Given the description of an element on the screen output the (x, y) to click on. 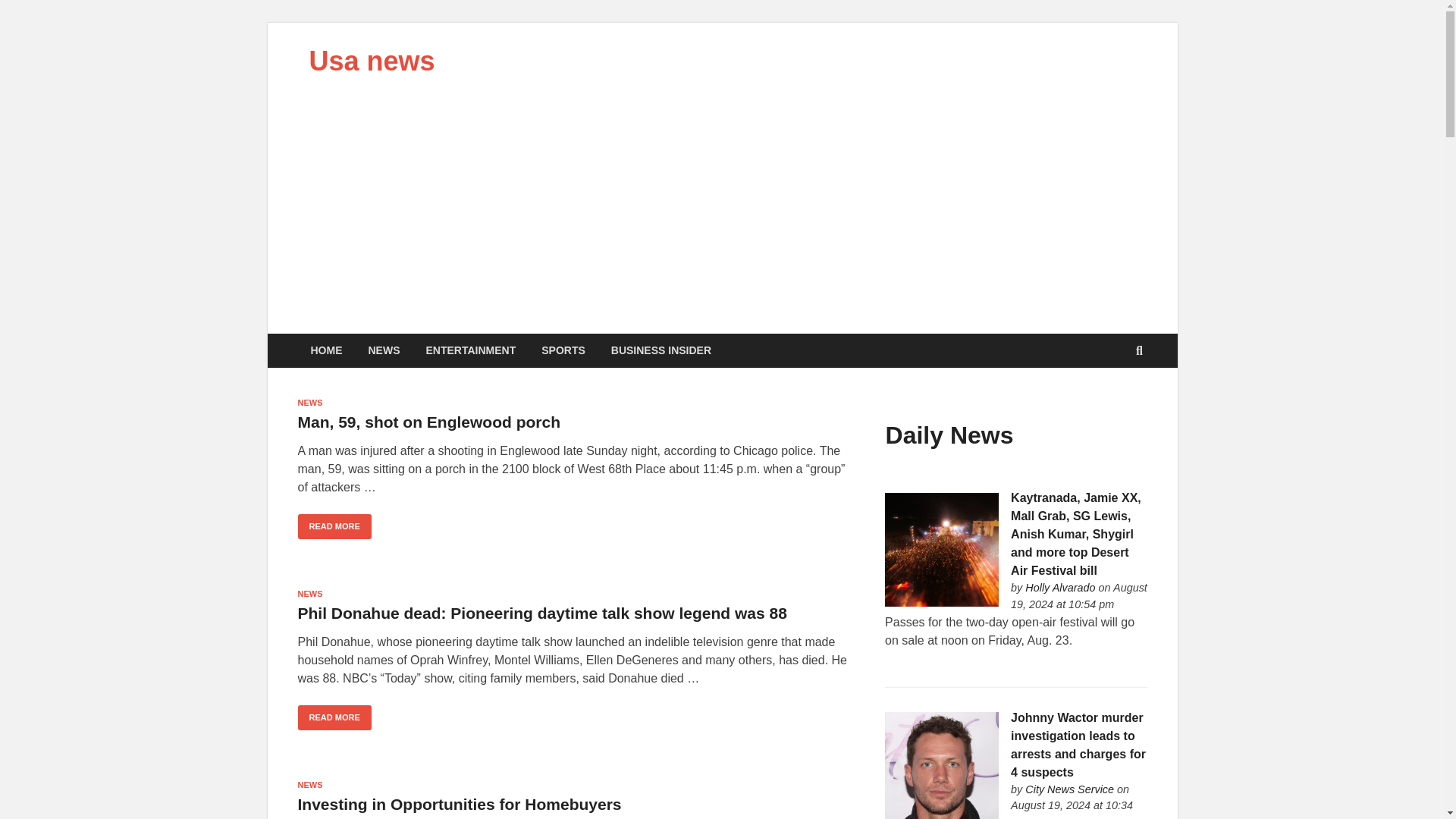
NEWS (309, 593)
NEWS (309, 402)
HOME (326, 350)
NEWS (309, 784)
BUSINESS INSIDER (660, 350)
www.dailynews.com (1069, 788)
READ MORE (334, 526)
NEWS (383, 350)
